Given the description of an element on the screen output the (x, y) to click on. 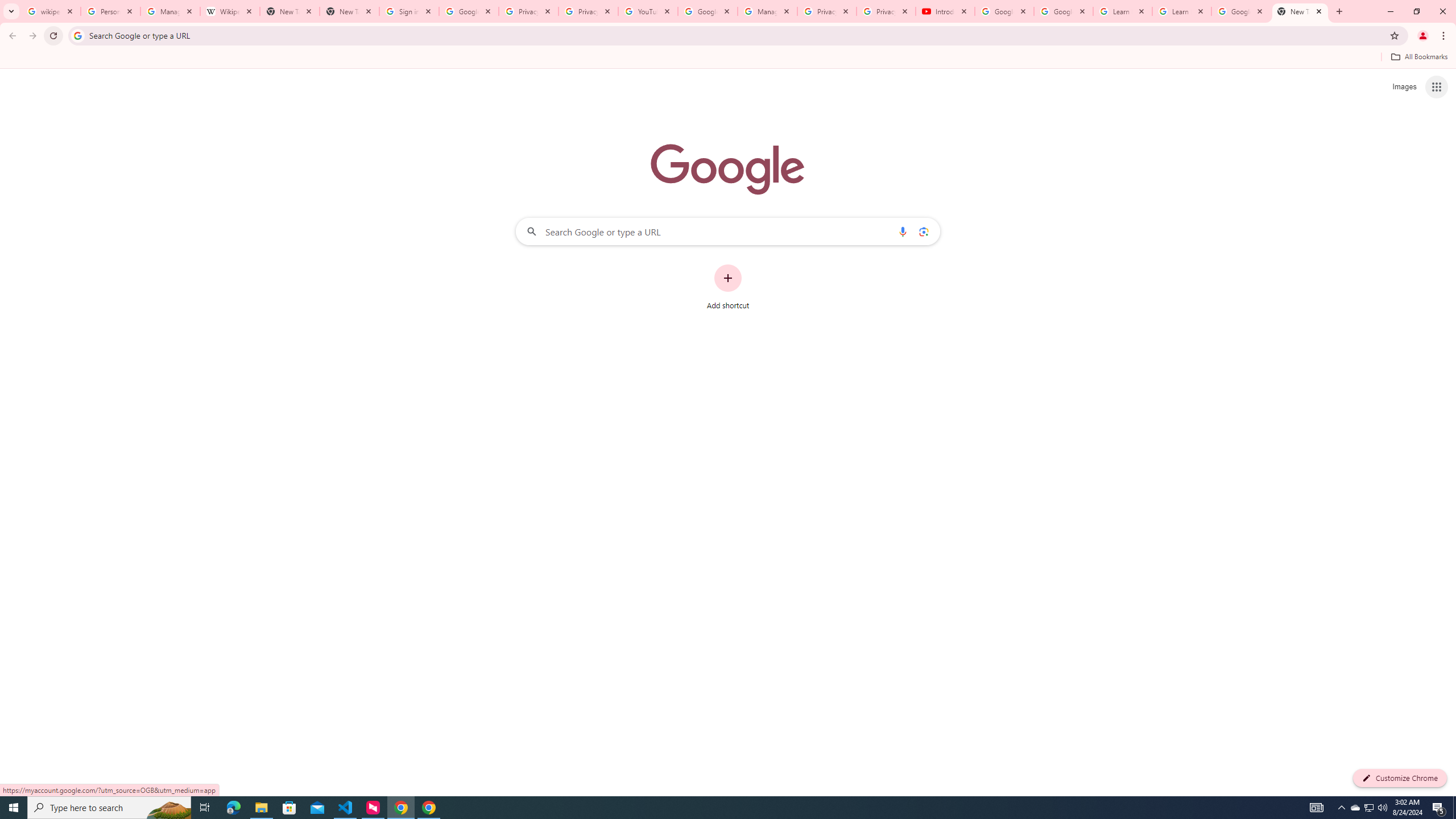
Google Account (1241, 11)
New Tab (349, 11)
Add shortcut (727, 287)
Sign in - Google Accounts (409, 11)
New Tab (1300, 11)
